Given the description of an element on the screen output the (x, y) to click on. 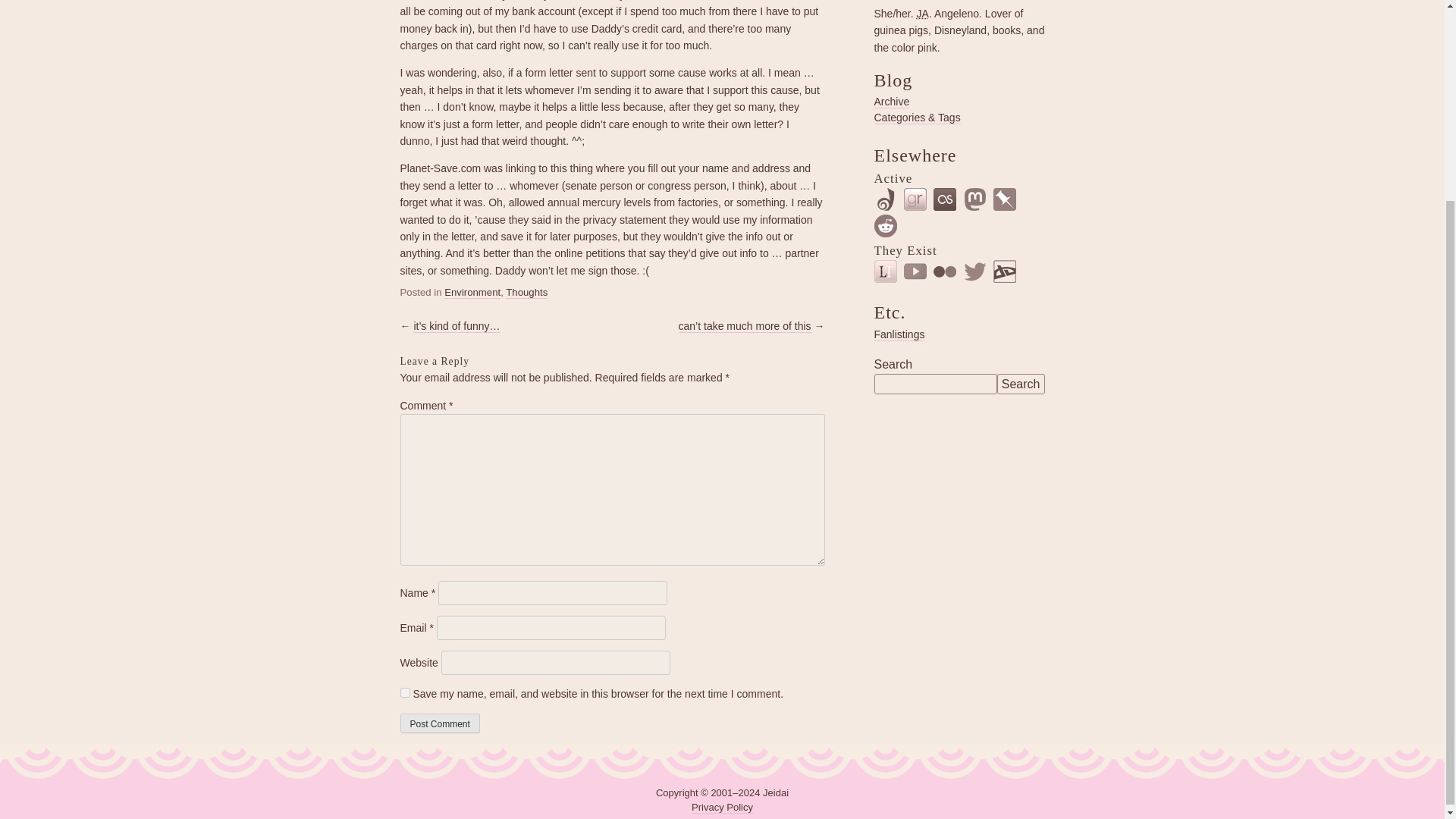
Environment (472, 292)
Archive (890, 101)
Dreamwidth (884, 199)
Last.fm (944, 199)
Twitter (975, 271)
Youtube (915, 271)
yes (405, 692)
Post Comment (440, 723)
Goodreads (915, 199)
DeviantArt (1004, 271)
